Given the description of an element on the screen output the (x, y) to click on. 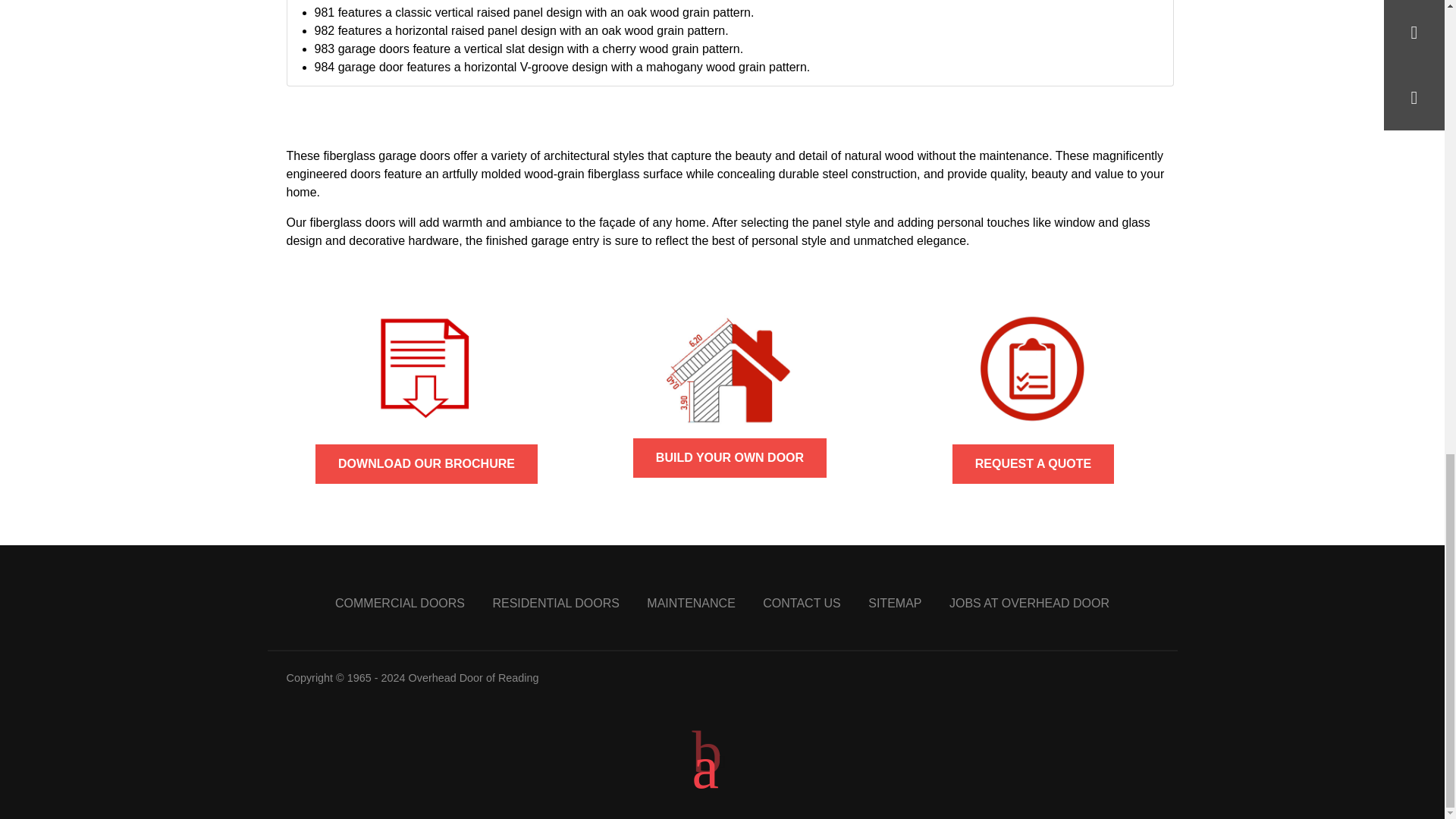
Commercial Doors (399, 603)
Overhead Door of Reading (473, 677)
Sitemap (894, 603)
Contact Us (801, 603)
Residential Doors (555, 603)
Jobs at Overhead Door (1029, 603)
Maintenance  (690, 603)
